Given the description of an element on the screen output the (x, y) to click on. 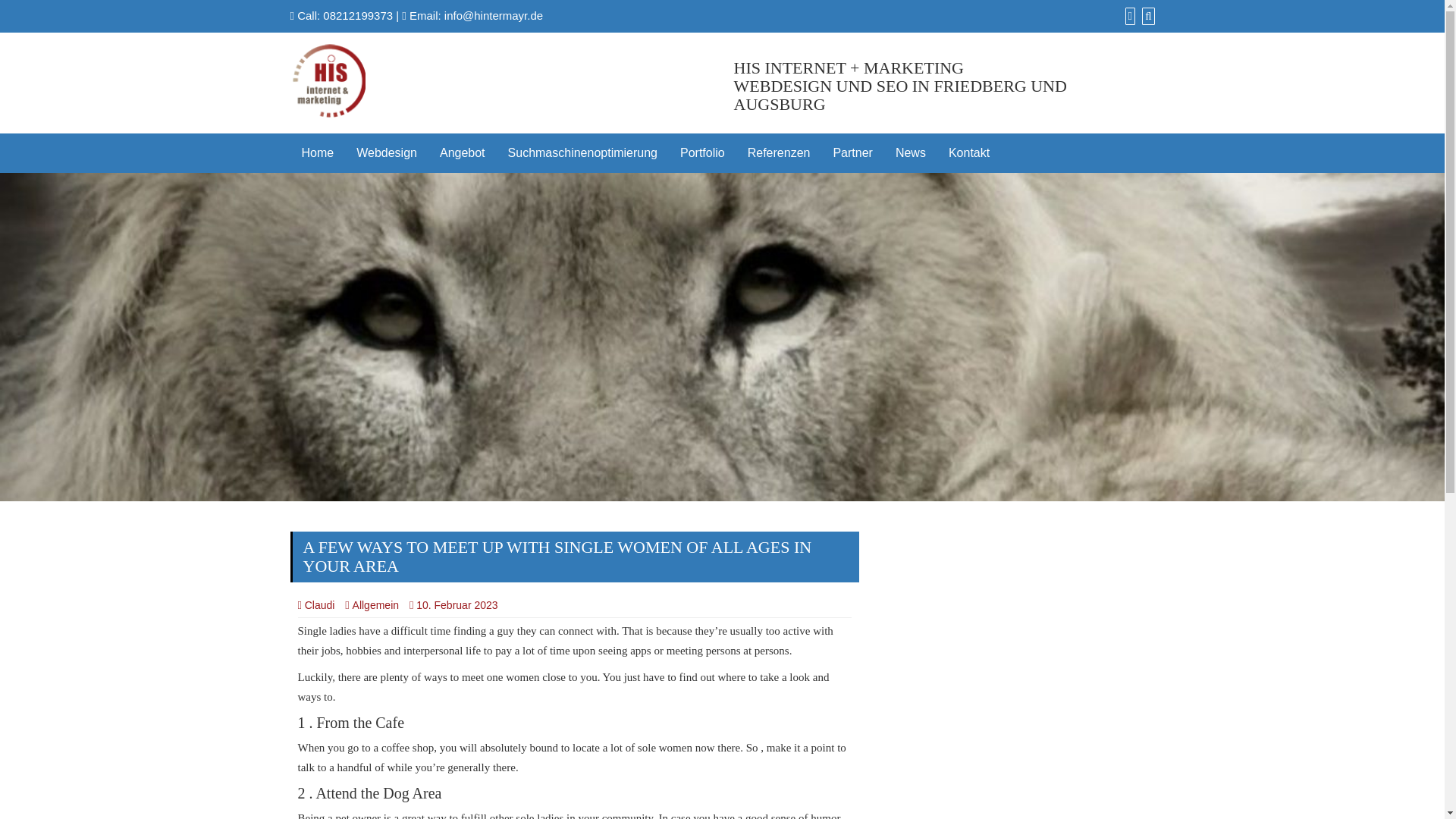
News (910, 152)
Kontakt (969, 152)
Webdesign (386, 152)
Suchmaschinenoptimierung (582, 152)
Home (317, 152)
Angebot (462, 152)
Webdesign (386, 152)
Kontakt (969, 152)
Angebot (462, 152)
Referenzen (779, 152)
Claudi (315, 604)
08212199373 (358, 15)
Home (317, 152)
Suchmaschinenoptimierung (582, 152)
Portfolio (702, 152)
